Given the description of an element on the screen output the (x, y) to click on. 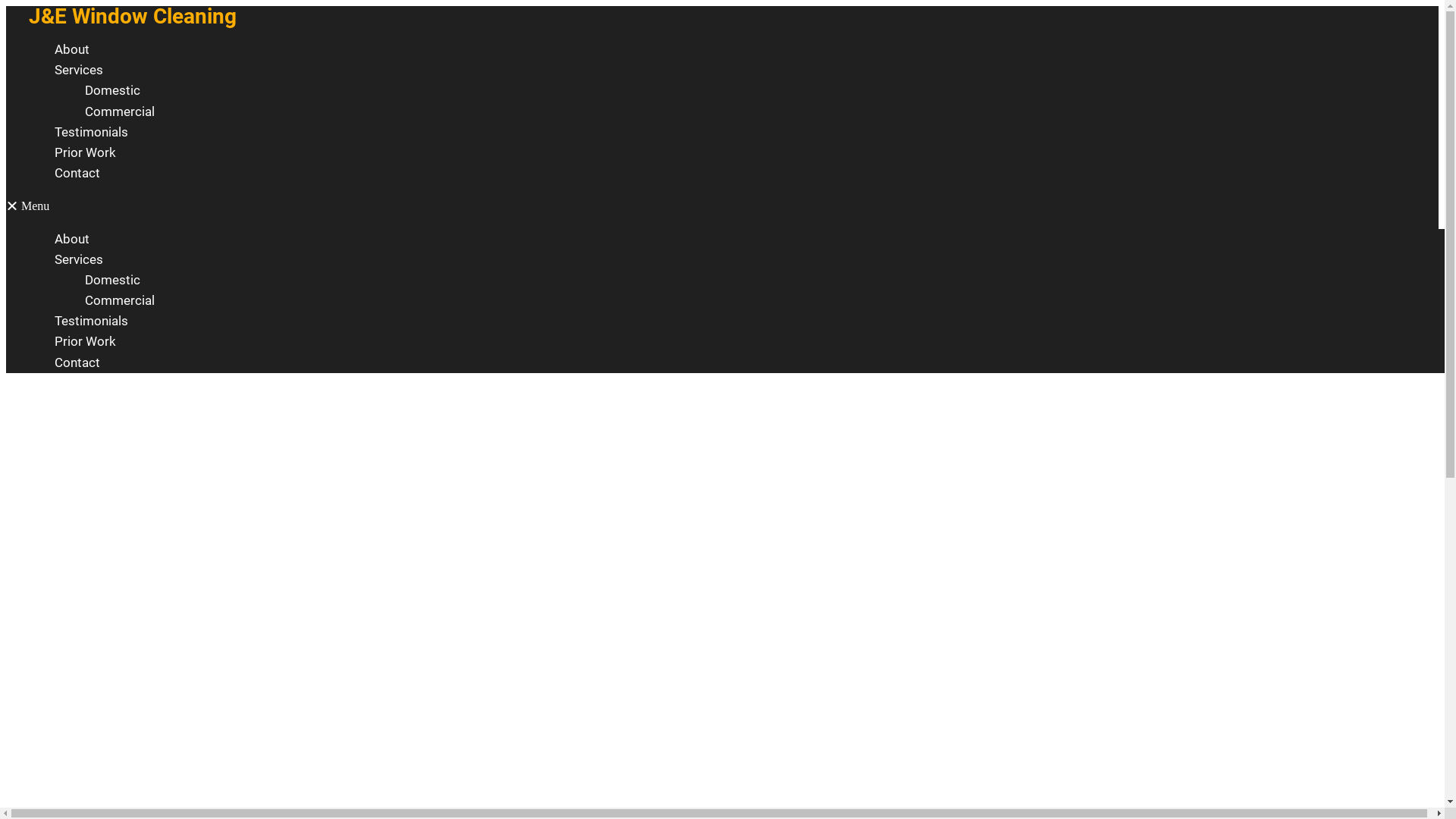
Testimonials Element type: text (91, 320)
About Element type: text (71, 49)
Services Element type: text (78, 259)
Commercial Element type: text (119, 300)
Contact Element type: text (77, 172)
About Element type: text (71, 237)
Domestic Element type: text (112, 90)
Prior Work Element type: text (85, 152)
Domestic Element type: text (112, 279)
Services Element type: text (78, 69)
0426 605 655 Element type: text (491, 507)
Testimonials Element type: text (91, 131)
Skip to content Element type: text (5, 5)
Prior Work Element type: text (85, 341)
Contact Element type: text (77, 362)
J&E Window Cleaning Element type: text (132, 15)
Commercial Element type: text (119, 111)
